Given the description of an element on the screen output the (x, y) to click on. 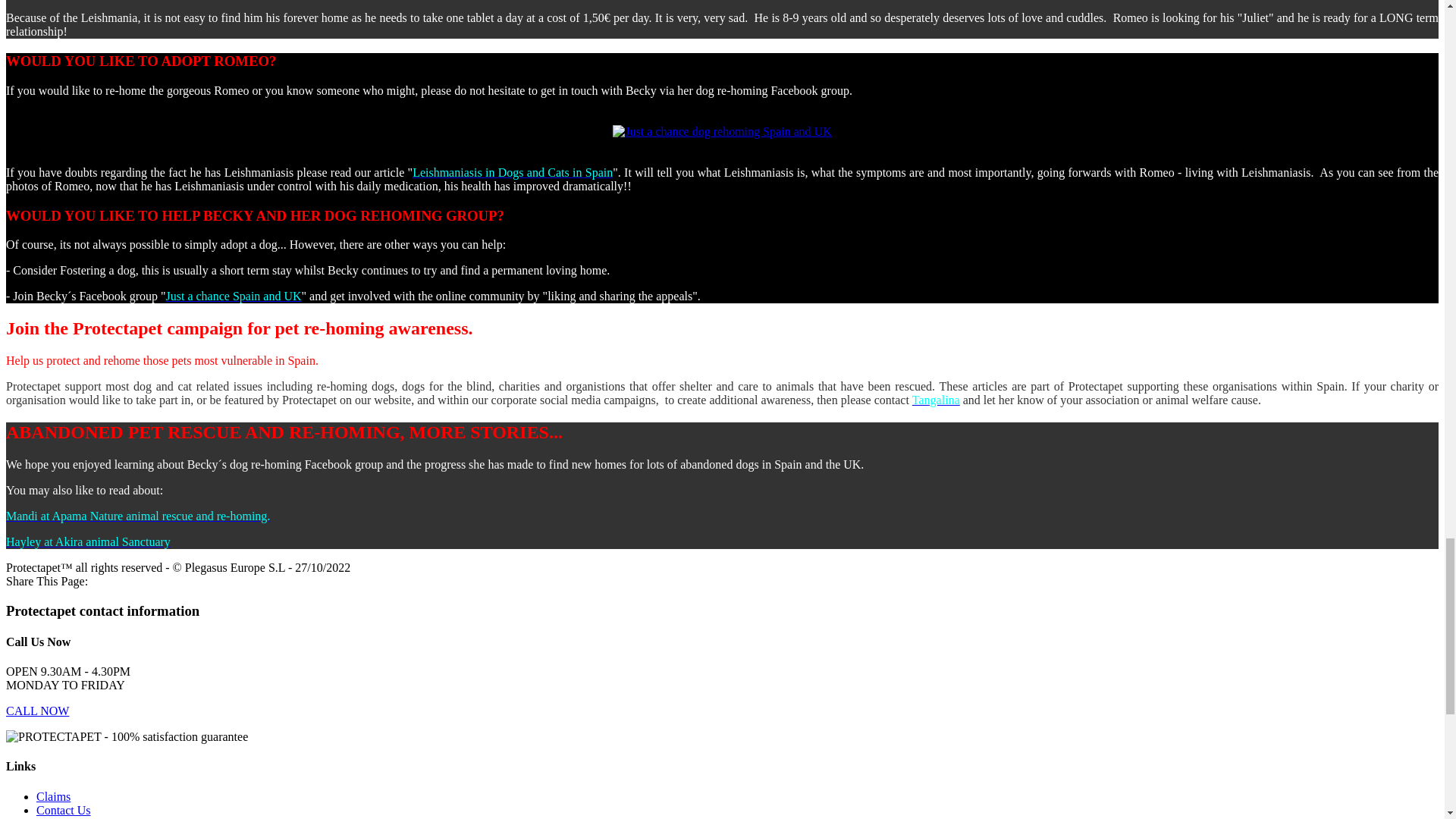
Just a chance dog rehoming Spain and UK  (721, 131)
Just a chance dog rehoming group on facebook (233, 295)
